Given the description of an element on the screen output the (x, y) to click on. 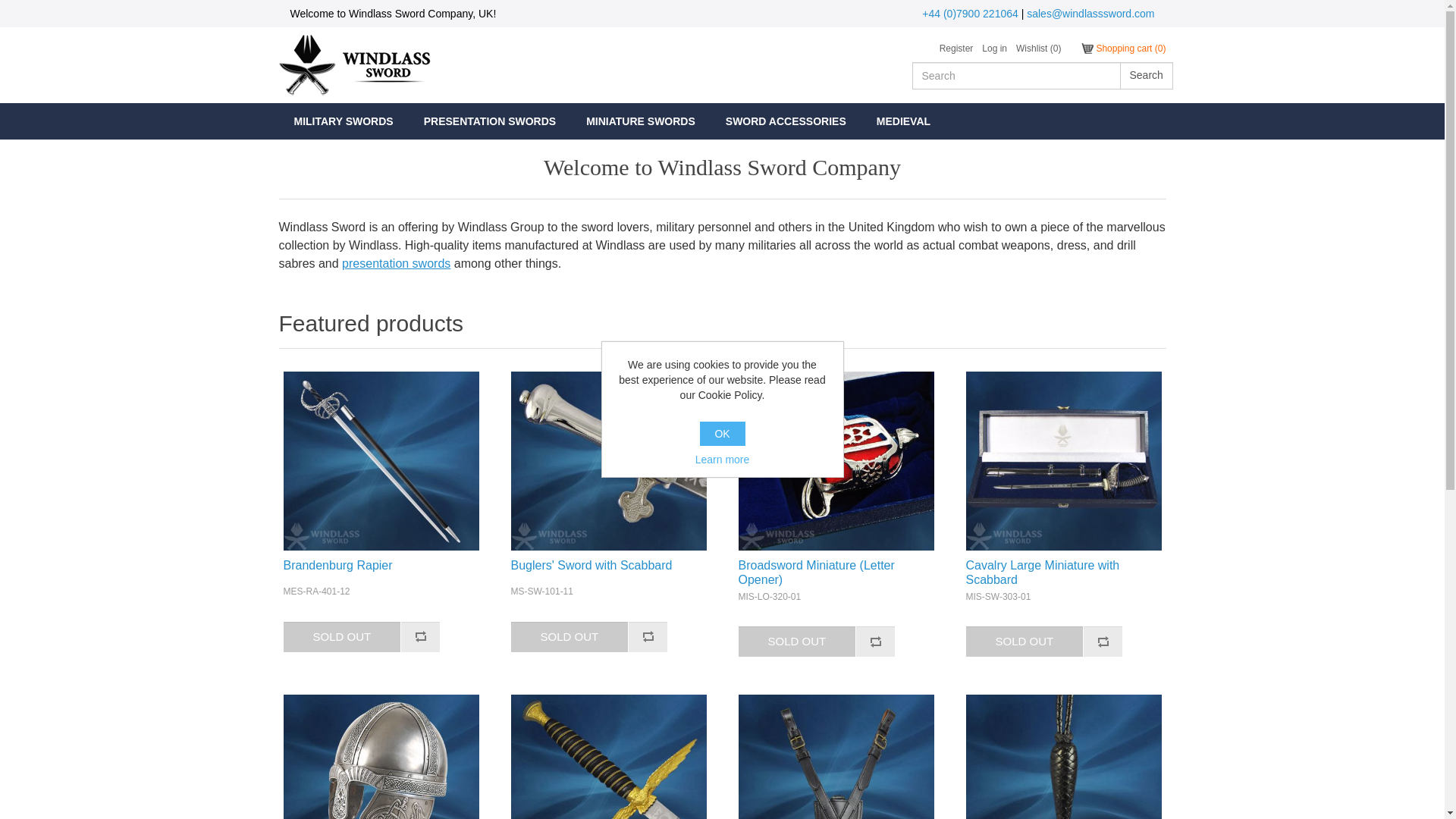
Add to compare list (1102, 641)
SWORD ACCESSORIES (785, 121)
Add to compare list (875, 641)
Search (1145, 75)
Cavalry Large Miniature with Scabbard (1063, 460)
Add to compare list (419, 636)
MINIATURE SWORDS (640, 121)
presentation swords (395, 263)
Buglers' Sword with Scabbard (608, 564)
Buglers' Sword with Scabbard (608, 460)
